Given the description of an element on the screen output the (x, y) to click on. 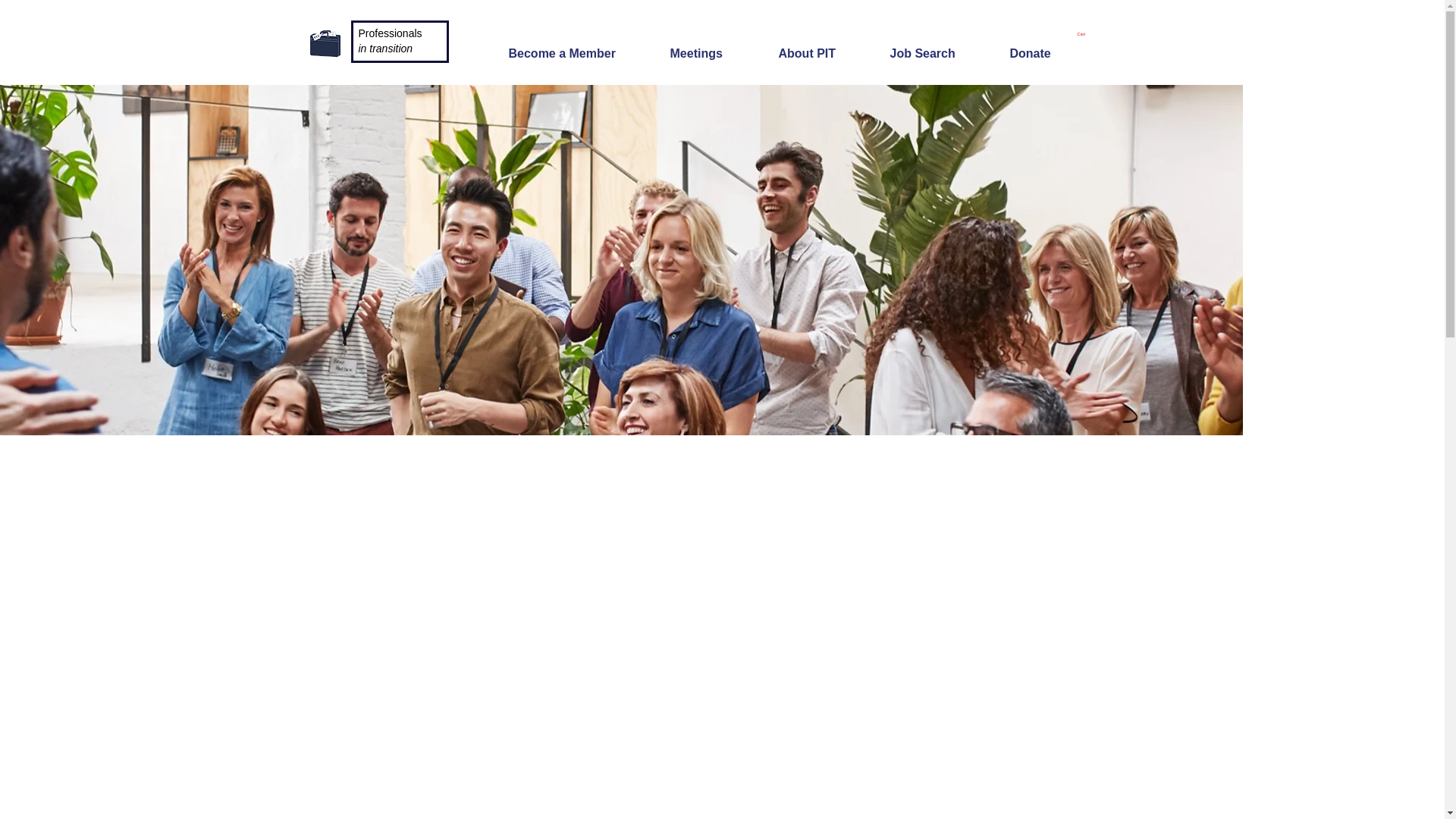
Meetings (710, 46)
Cart (1079, 33)
Donate (1044, 46)
Become a Member (575, 46)
Professionals (390, 33)
in transition (385, 48)
Job Search (935, 46)
Cart (1079, 33)
